Given the description of an element on the screen output the (x, y) to click on. 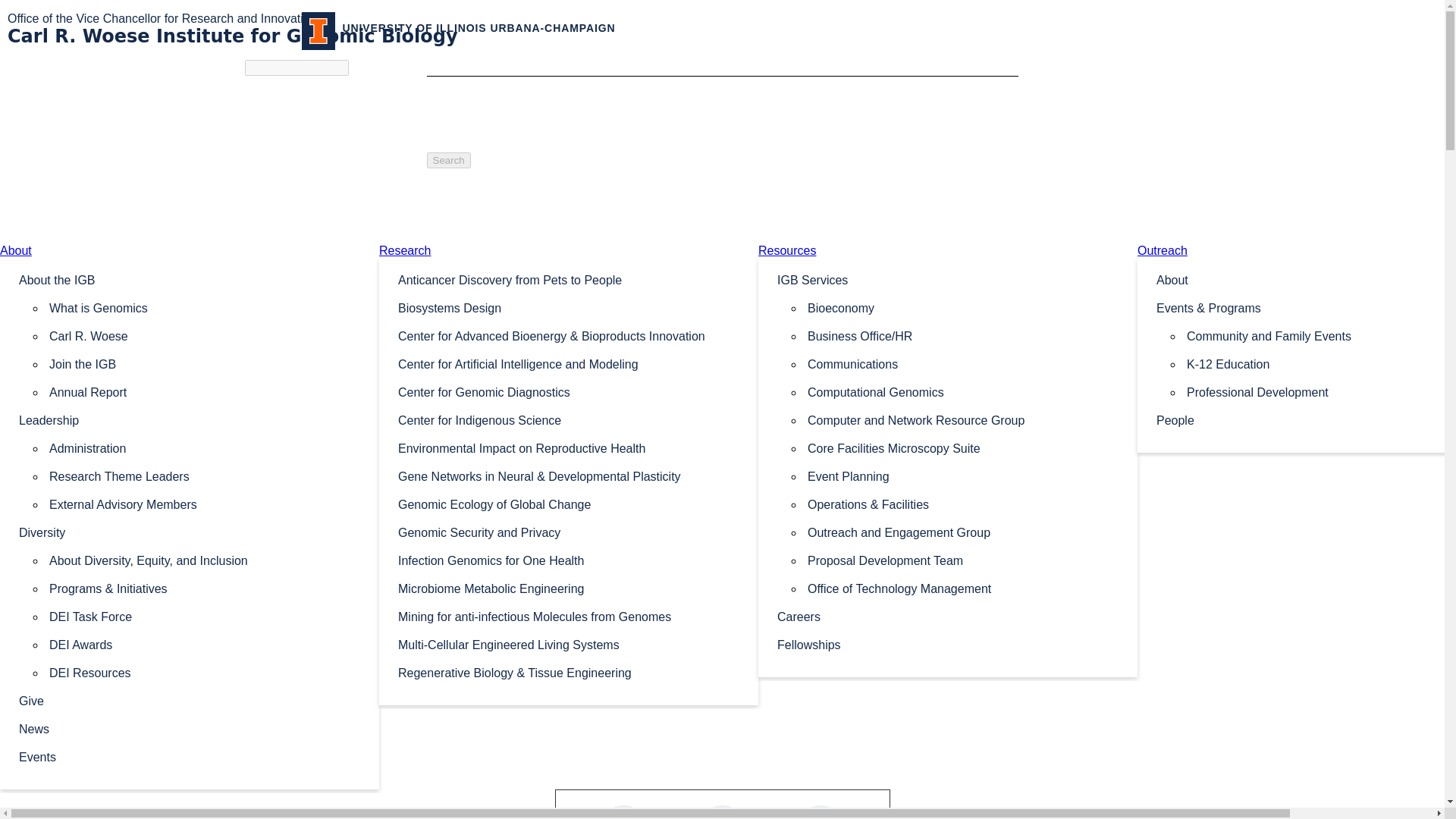
Center for Genomic Diagnostics (568, 391)
DEI Task Force (204, 615)
News (189, 728)
About the IGB (189, 279)
Infection Genomics for One Health (568, 560)
DEI Resources (204, 672)
Annual Report (204, 391)
Center for Artificial Intelligence and Modeling (568, 363)
Research (404, 250)
External Advisory Members (204, 503)
